Given the description of an element on the screen output the (x, y) to click on. 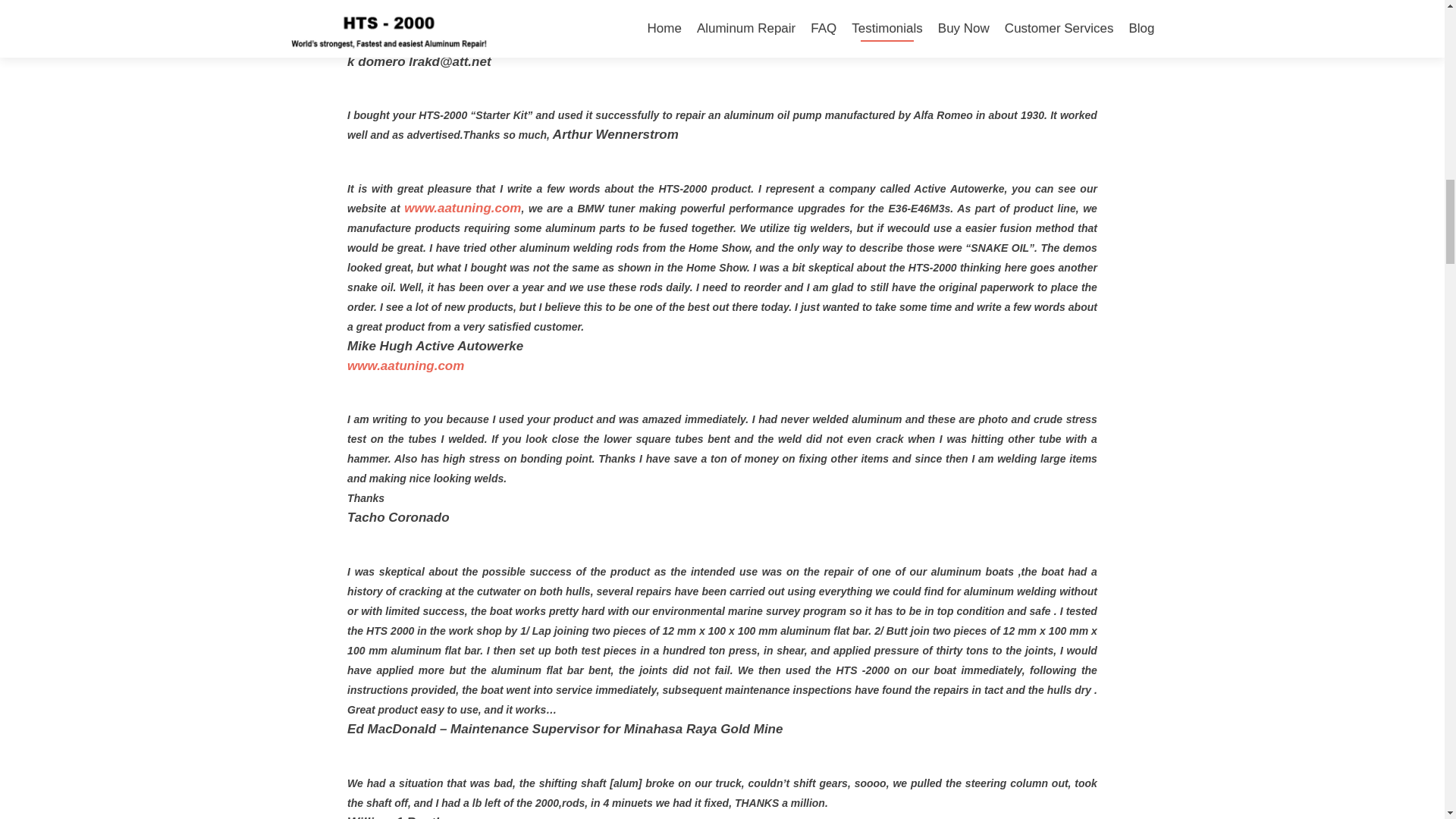
www.aatuning.com (405, 365)
www.aatuning.com (462, 207)
